Given the description of an element on the screen output the (x, y) to click on. 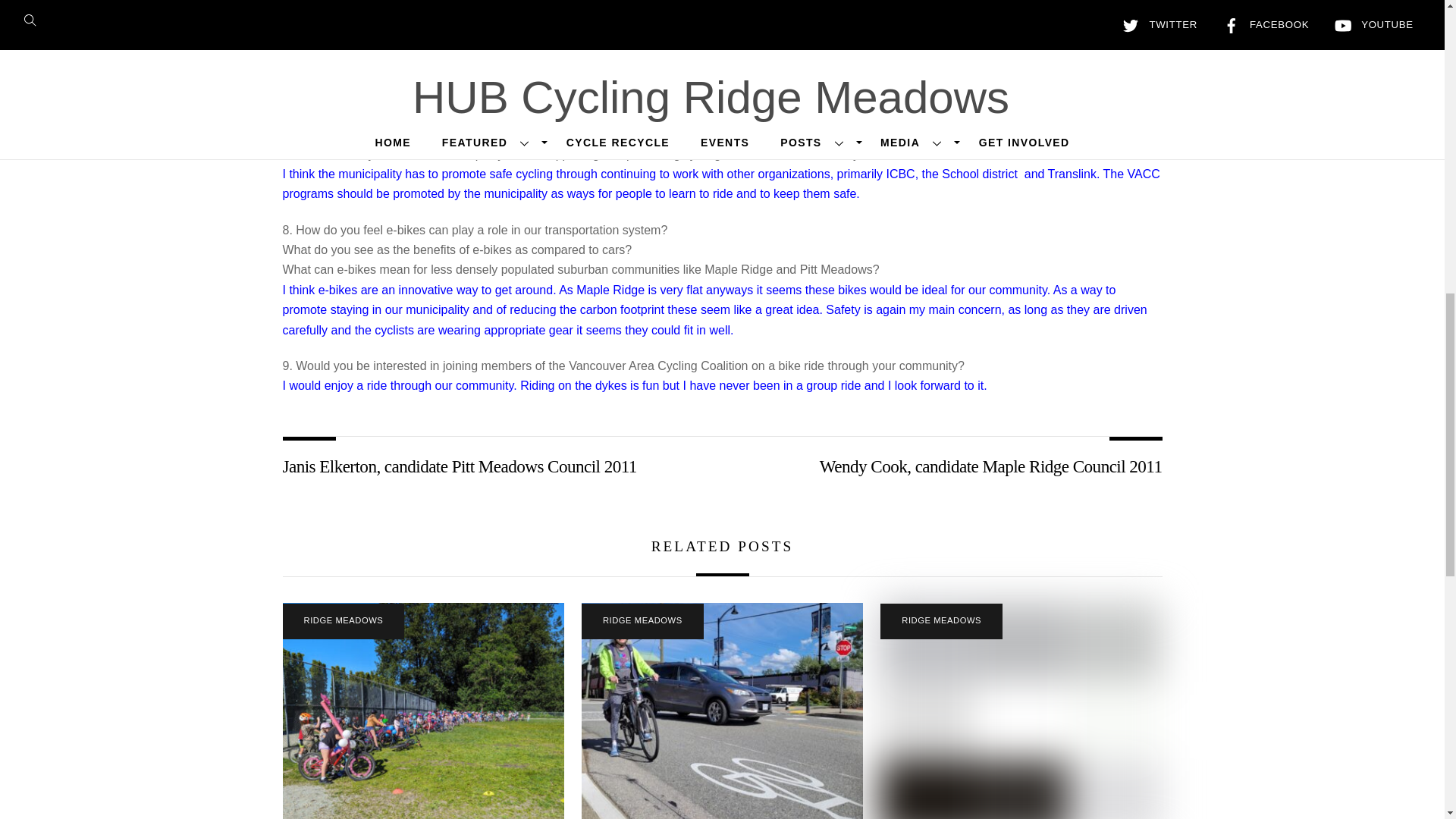
Bike to school 2024 Albion Elementary (422, 710)
RIDGE MEADOWS (941, 621)
Janis Elkerton, candidate Pitt Meadows Council 2011 (488, 466)
RIDGE MEADOWS (343, 621)
Hammond MUP 1-1 (1020, 710)
Wendy Cook, candidate Maple Ridge Council 2011 (954, 466)
RIDGE MEADOWS (641, 621)
maple ridge news interview (721, 710)
